Given the description of an element on the screen output the (x, y) to click on. 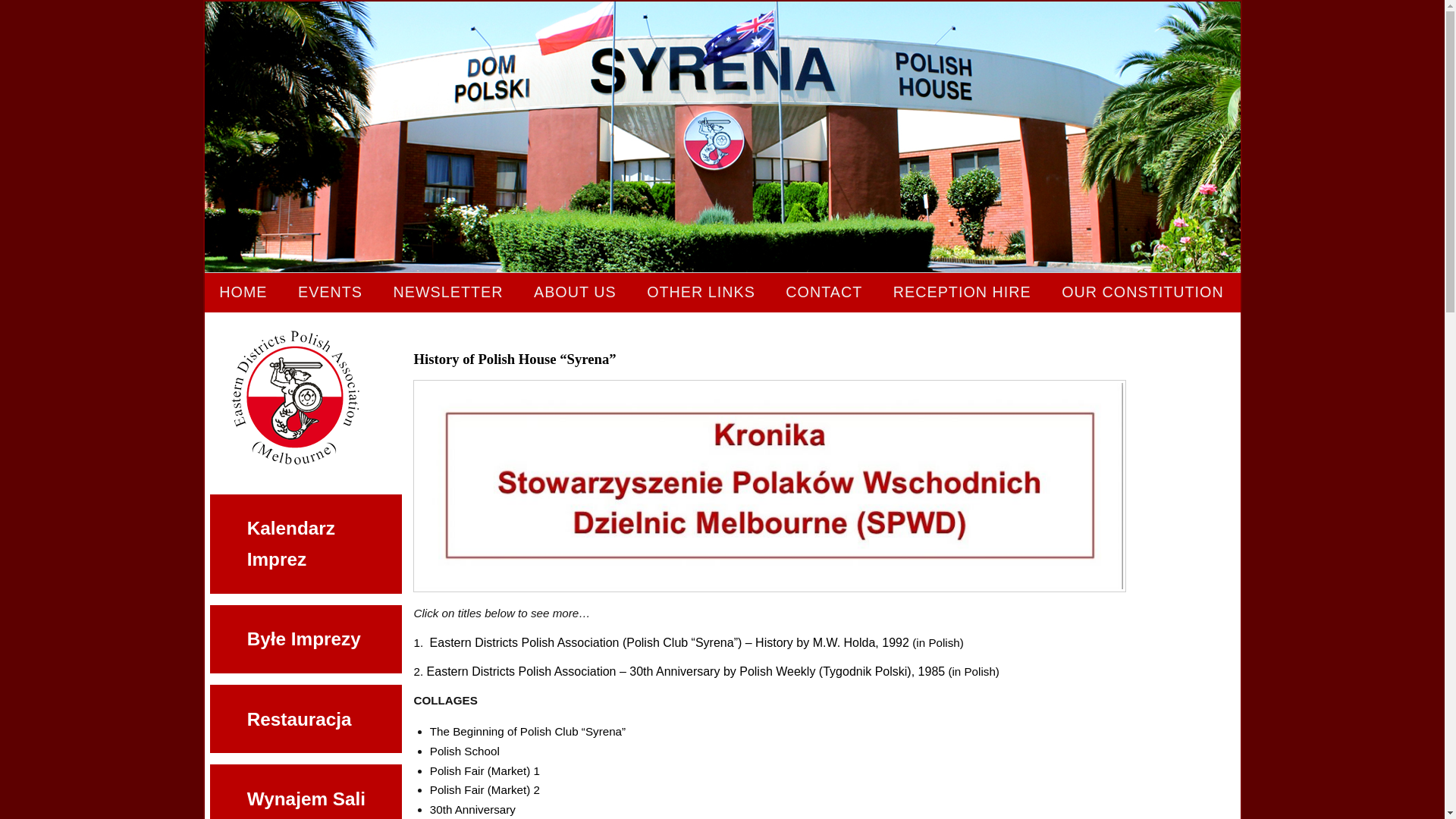
OTHER LINKS Element type: text (700, 292)
RECEPTION HIRE Element type: text (962, 292)
30th Anniversary Element type: text (472, 809)
ABOUT US Element type: text (574, 292)
HOME Element type: text (243, 292)
EVENTS Element type: text (330, 292)
OUR CONSTITUTION Element type: text (1142, 292)
CONTACT Element type: text (824, 292)
Polish School Element type: text (464, 750)
Polish Fair (Market) 1 Element type: text (484, 770)
Restauracja Element type: text (305, 718)
Kalendarz Imprez Element type: text (305, 543)
Polish Fair (Market) 2 Element type: text (484, 789)
NEWSLETTER Element type: text (448, 292)
